Given the description of an element on the screen output the (x, y) to click on. 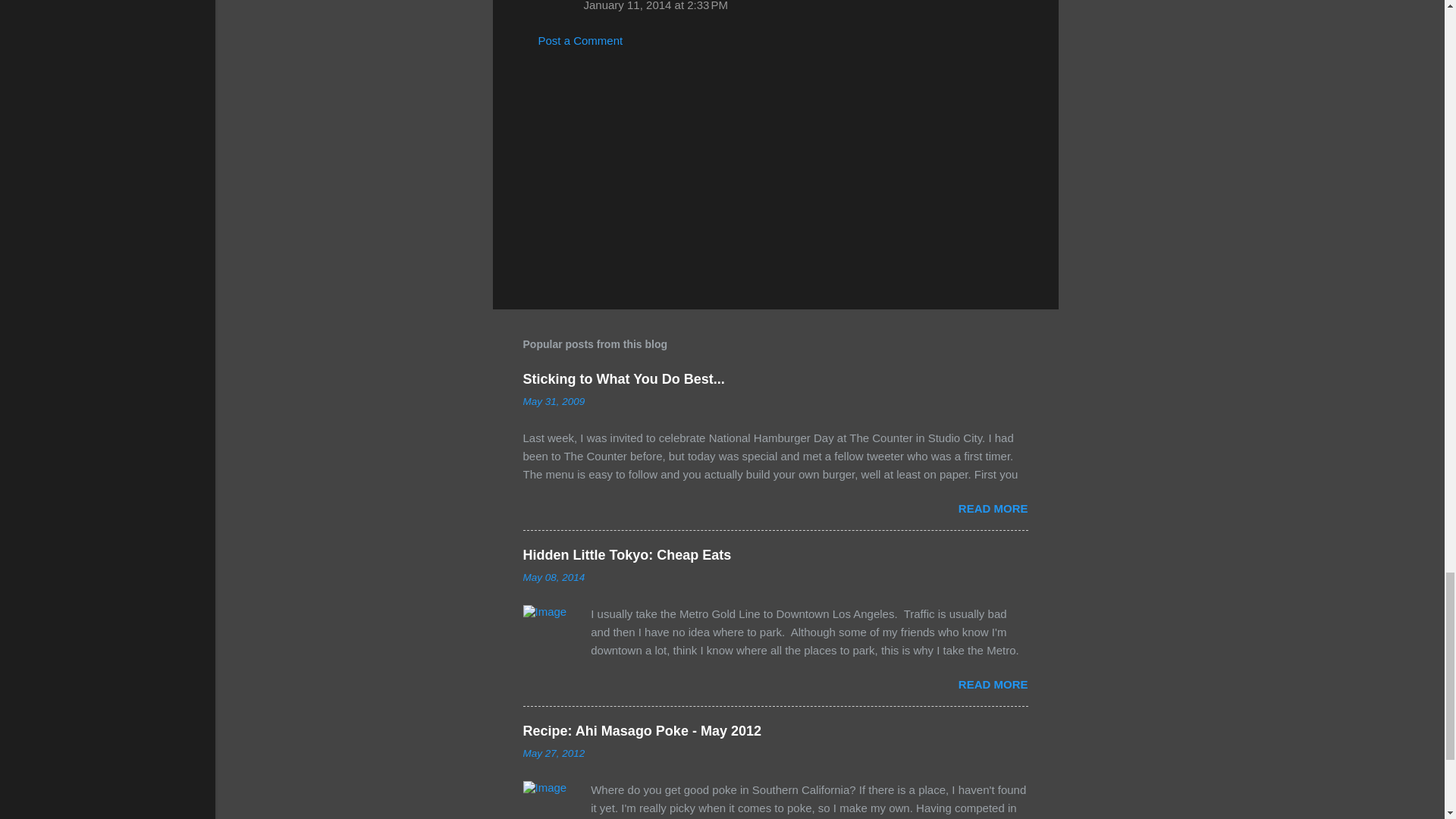
READ MORE (992, 508)
Hidden Little Tokyo: Cheap Eats (627, 554)
comment permalink (656, 5)
May 31, 2009 (553, 401)
Post a Comment (580, 40)
Sticking to What You Do Best... (623, 378)
